Given the description of an element on the screen output the (x, y) to click on. 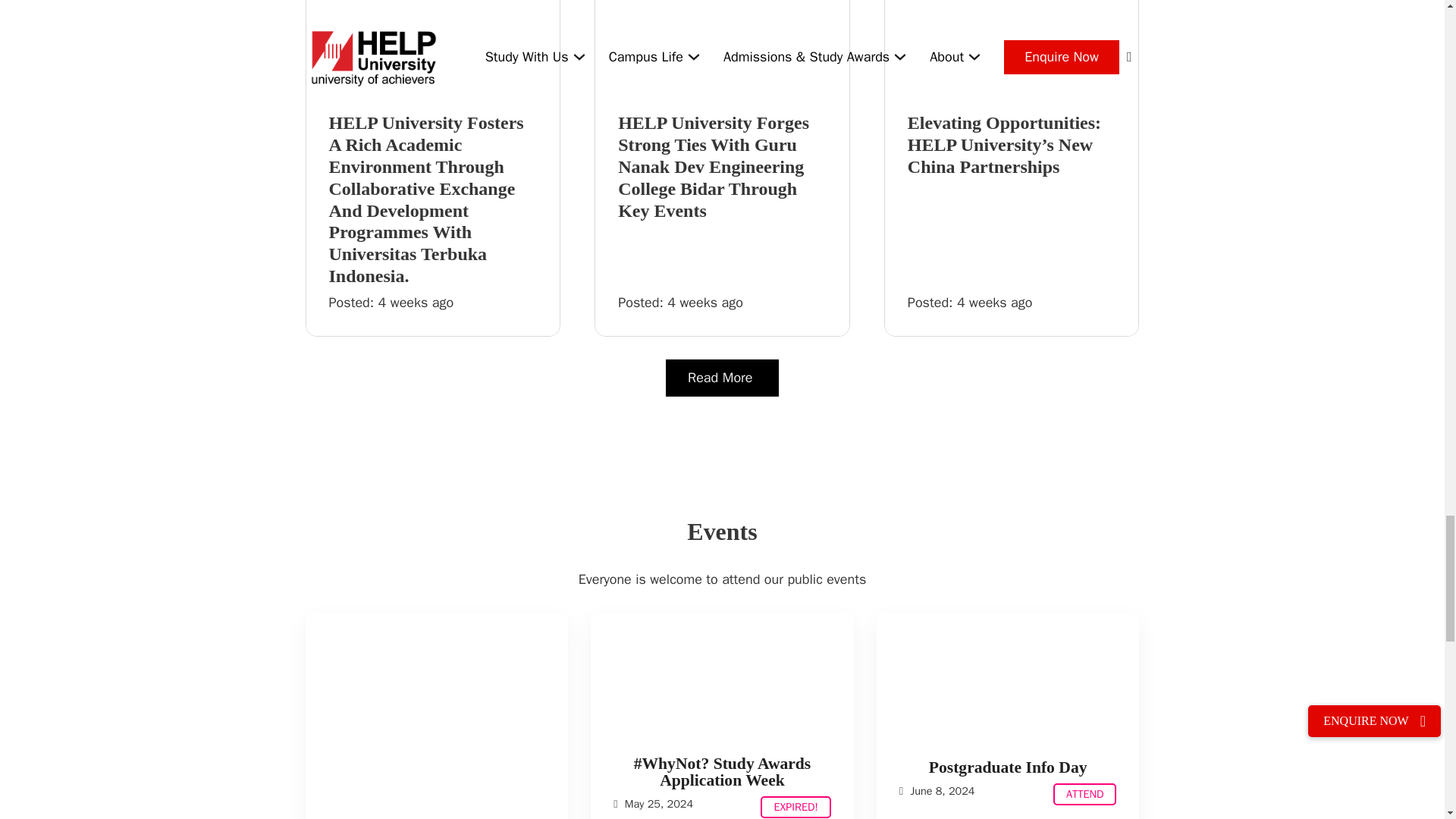
Postgraduate Info Day (1084, 793)
